Given the description of an element on the screen output the (x, y) to click on. 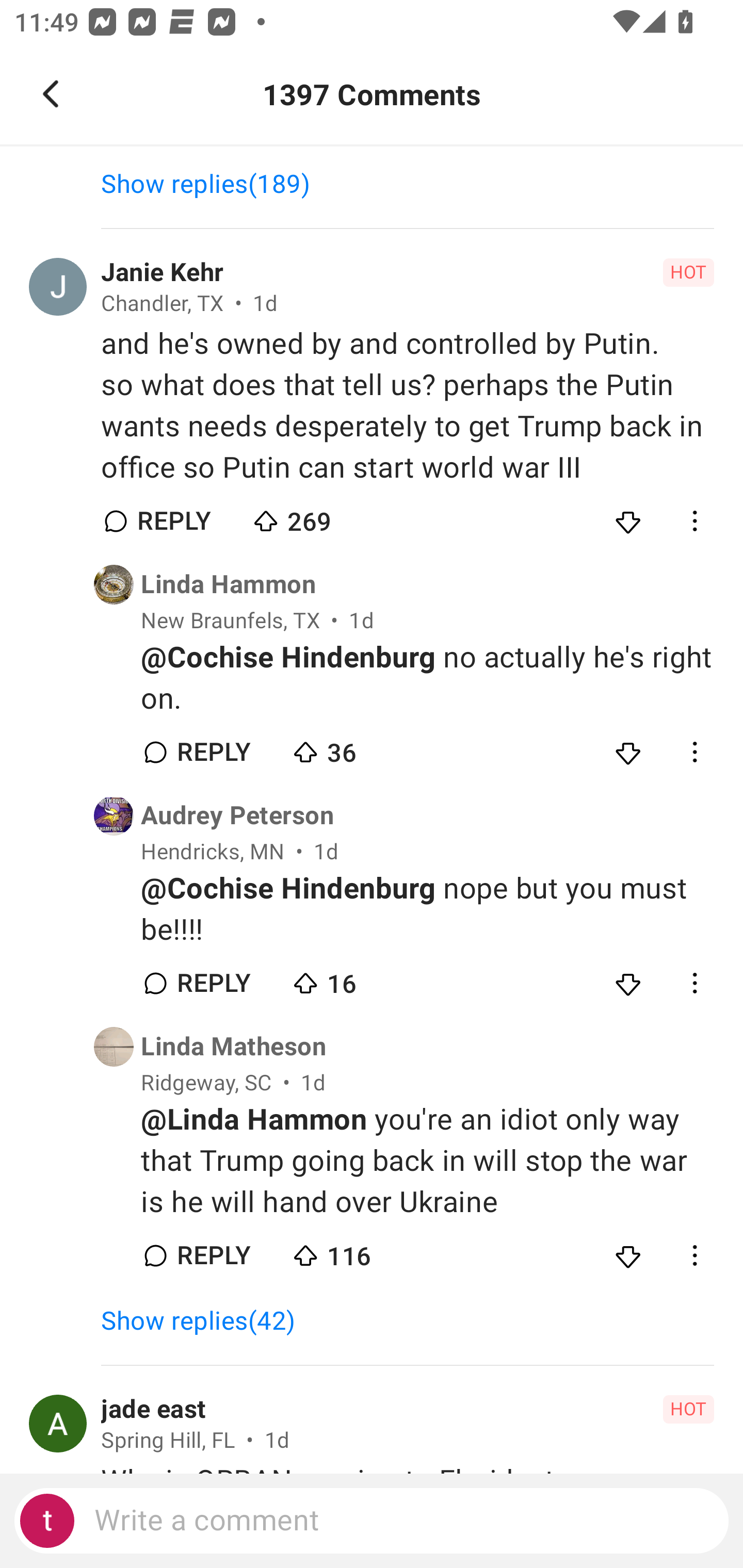
Navigate up (50, 93)
Show replies(189) (214, 184)
Janie Kehr (162, 271)
269 (320, 516)
REPLY (173, 521)
Linda Hammon (228, 583)
@Cochise Hindenburg no actually he's right on. (427, 678)
36 (360, 747)
REPLY (213, 751)
Audrey Peterson (237, 816)
@Cochise Hindenburg nope but you must be!!!! (427, 909)
16 (360, 979)
REPLY (213, 983)
Linda Matheson (233, 1046)
116 (360, 1250)
REPLY (213, 1255)
Show replies(42) (207, 1321)
jade east (153, 1408)
Write a comment (371, 1520)
